Given the description of an element on the screen output the (x, y) to click on. 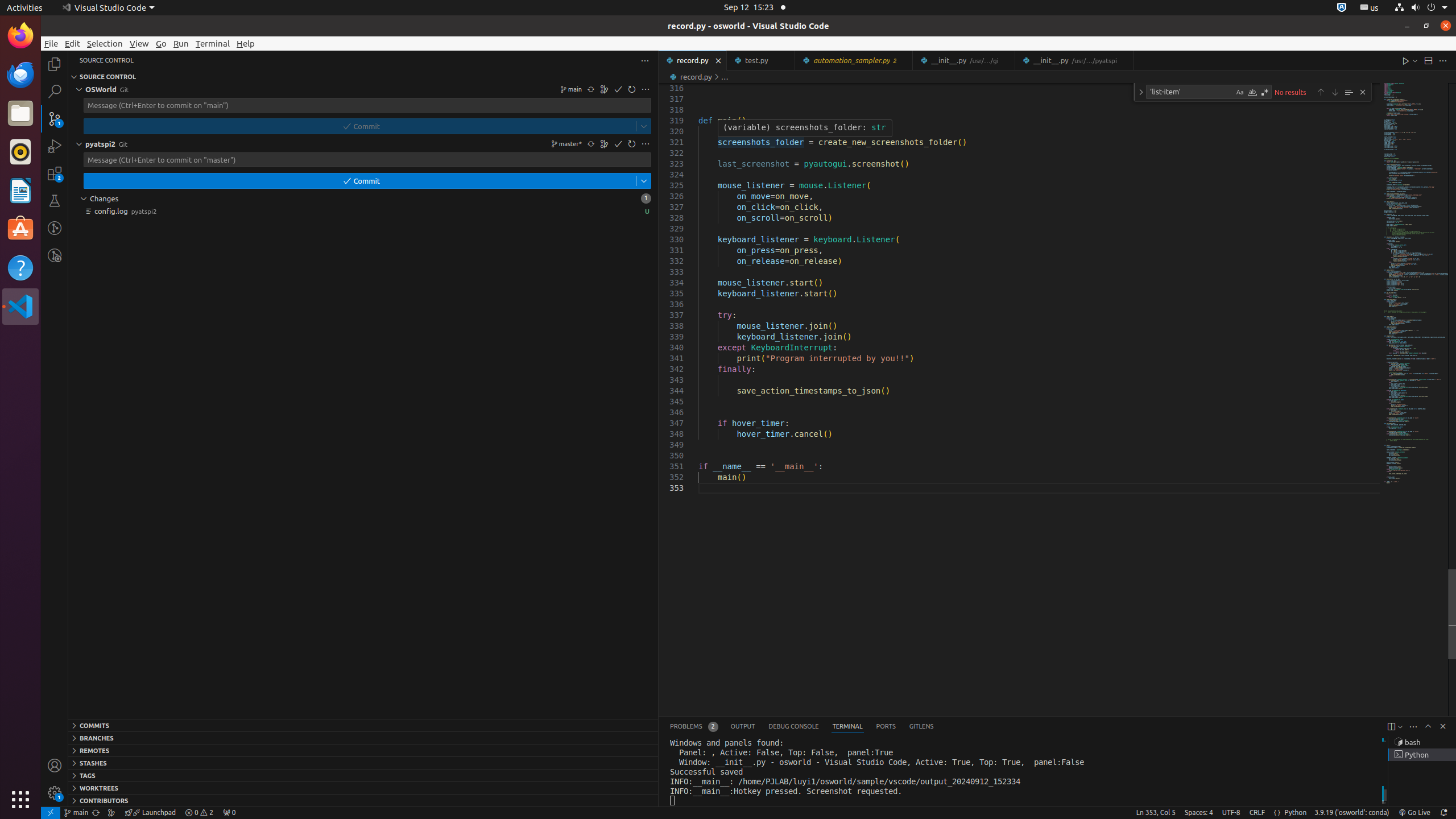
Notifications Element type: push-button (1443, 812)
Editor Language Status: Auto Import Completions: false, next: Type Checking: off Element type: push-button (1277, 812)
pyatspi2 Git Element type: tree-item (363, 143)
Problems (Ctrl+Shift+M) - Total 2 Problems Element type: page-tab (693, 726)
